Given the description of an element on the screen output the (x, y) to click on. 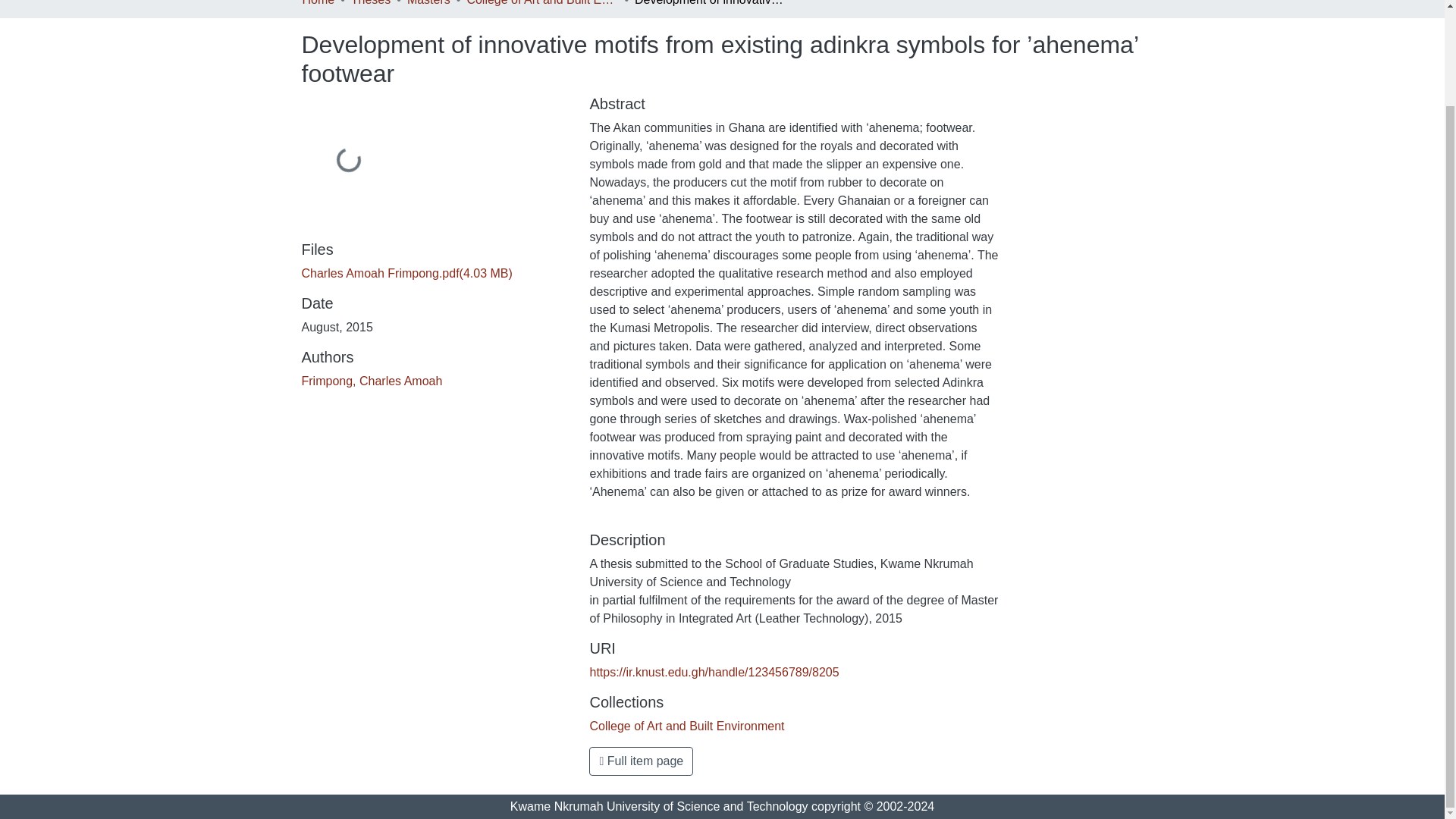
Home (317, 4)
Theses (370, 4)
College of Art and Built Environment (686, 725)
Kwame Nkrumah University of Science and Technology (659, 806)
College of Art and Built Environment (541, 4)
Frimpong, Charles Amoah (371, 380)
Masters (428, 4)
Full item page (641, 760)
